Given the description of an element on the screen output the (x, y) to click on. 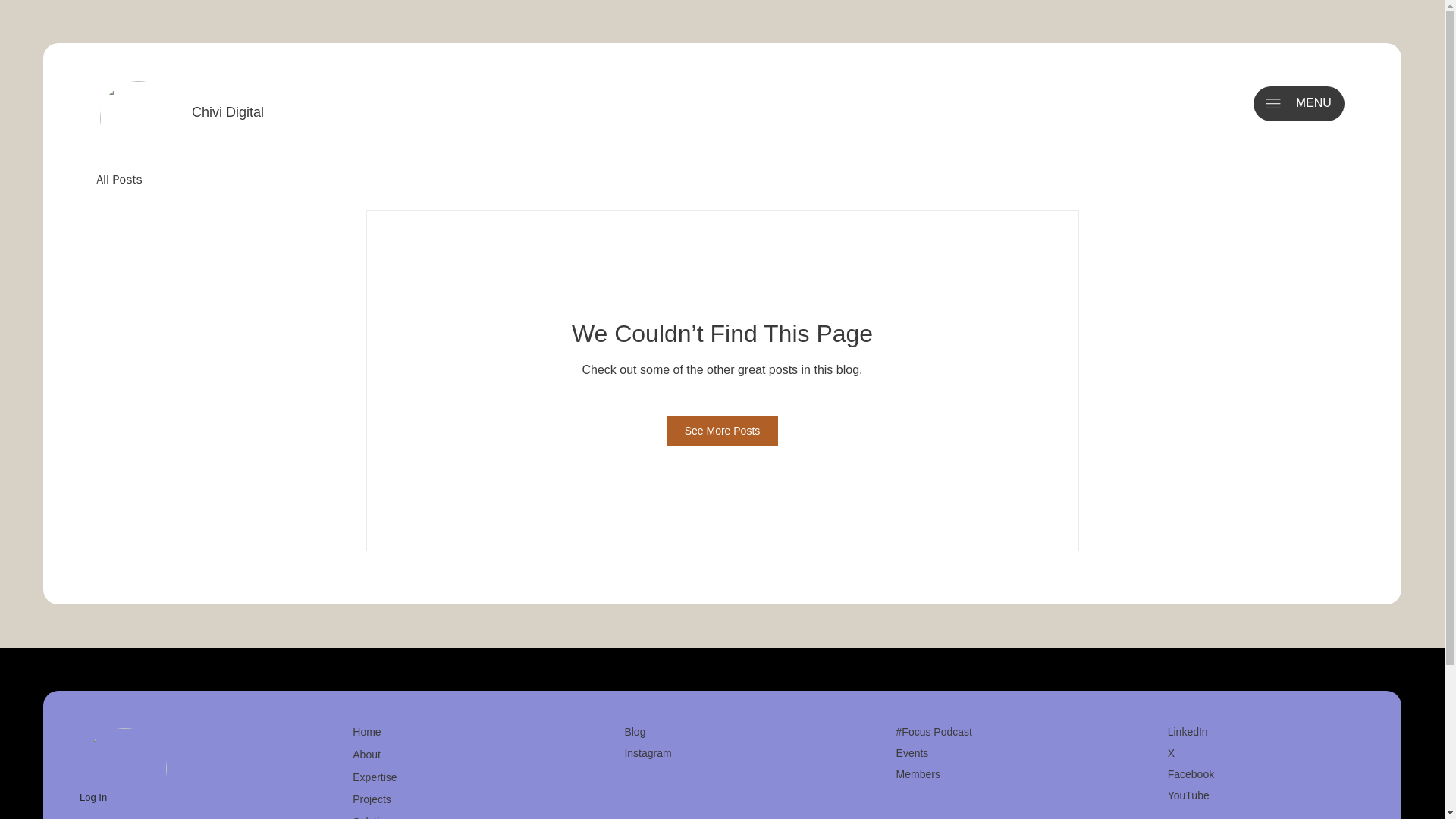
All Posts (119, 179)
Members (918, 774)
LinkedIn (1187, 731)
Events (912, 752)
Expertise (419, 777)
Facebook (1190, 774)
Instagram (647, 752)
See More Posts (722, 430)
YouTube (1188, 795)
Blog (634, 731)
Projects (419, 799)
Chivi Digital  (229, 111)
Log In (79, 797)
Home (419, 732)
About (419, 754)
